Given the description of an element on the screen output the (x, y) to click on. 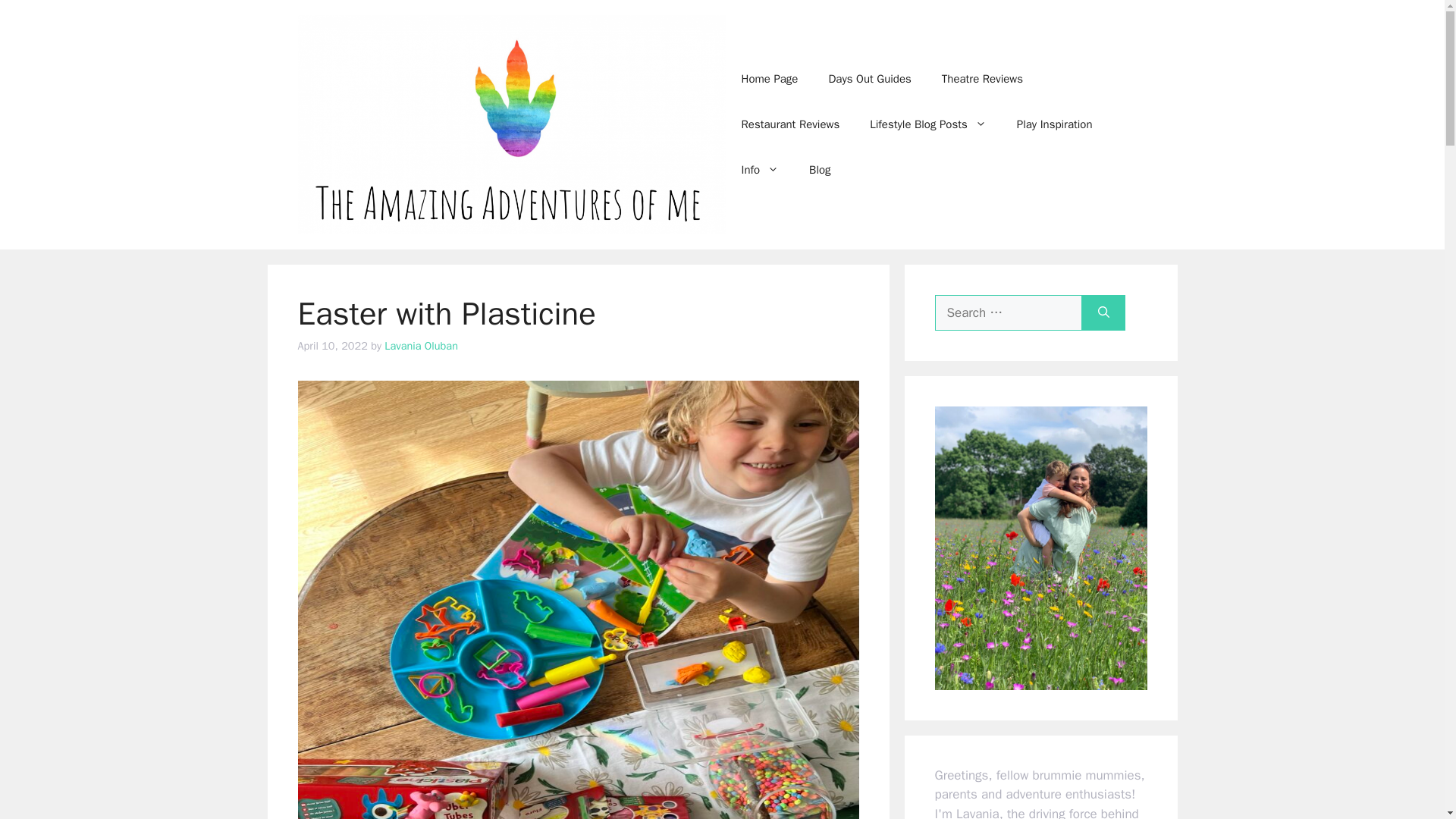
Lifestyle Blog Posts (927, 124)
Home Page (769, 78)
Search for: (1007, 312)
Restaurant Reviews (791, 124)
View all posts by Lavania Oluban (421, 345)
Blog (819, 169)
Days Out Guides (869, 78)
Theatre Reviews (982, 78)
Lavania Oluban (421, 345)
Info (760, 169)
Play Inspiration (1054, 124)
